Given the description of an element on the screen output the (x, y) to click on. 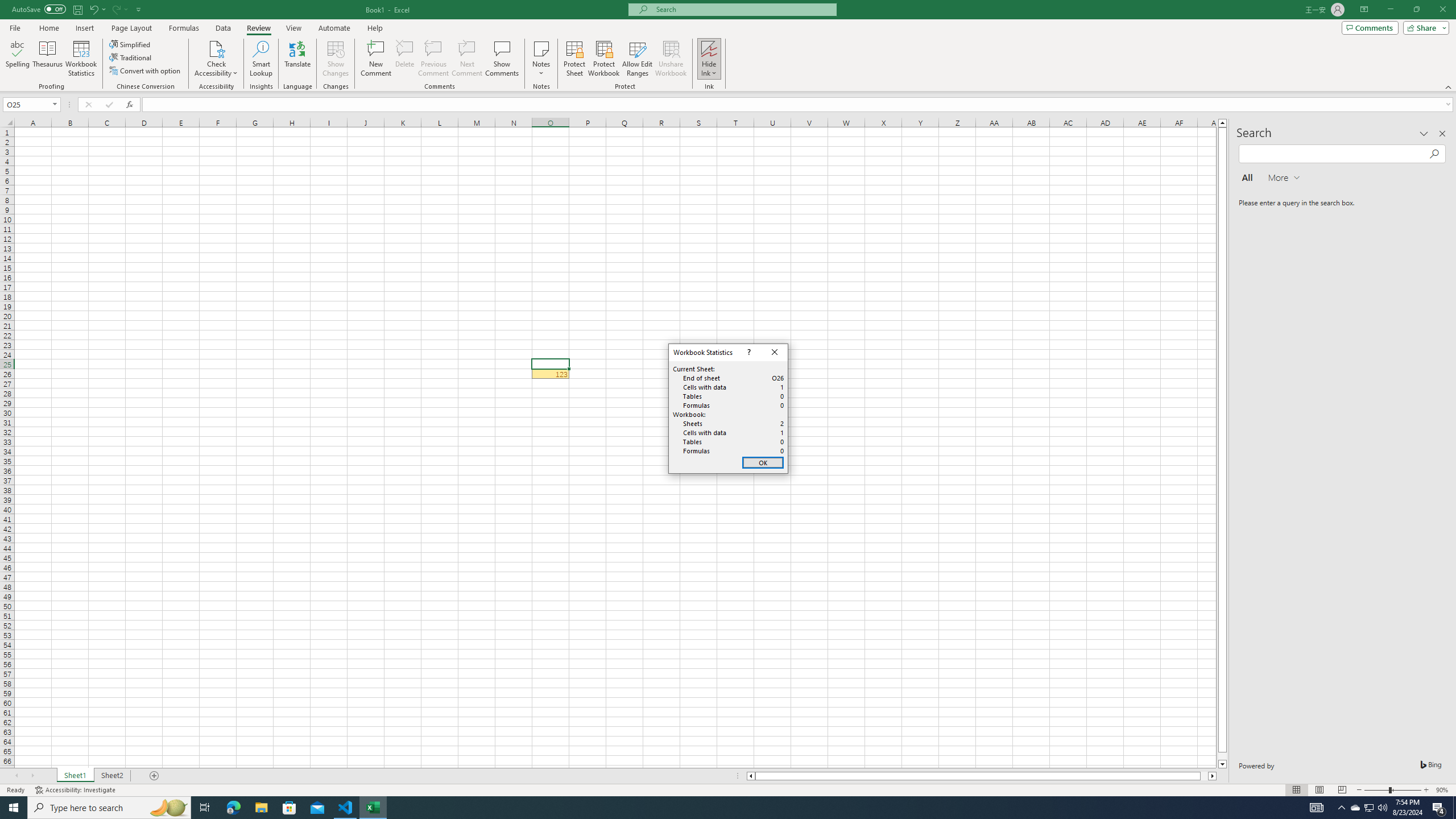
Open (54, 104)
Action Center, 4 new notifications (1439, 807)
Page Break Preview (1342, 790)
Formulas (184, 28)
Scroll Left (16, 775)
Next Comment (466, 58)
Start (13, 807)
Visual Studio Code - 1 running window (345, 807)
Spelling... (17, 58)
Share (1423, 27)
Previous Comment (432, 58)
Task View (204, 807)
Smart Lookup (260, 58)
More Options (708, 68)
Zoom Out (1376, 790)
